Given the description of an element on the screen output the (x, y) to click on. 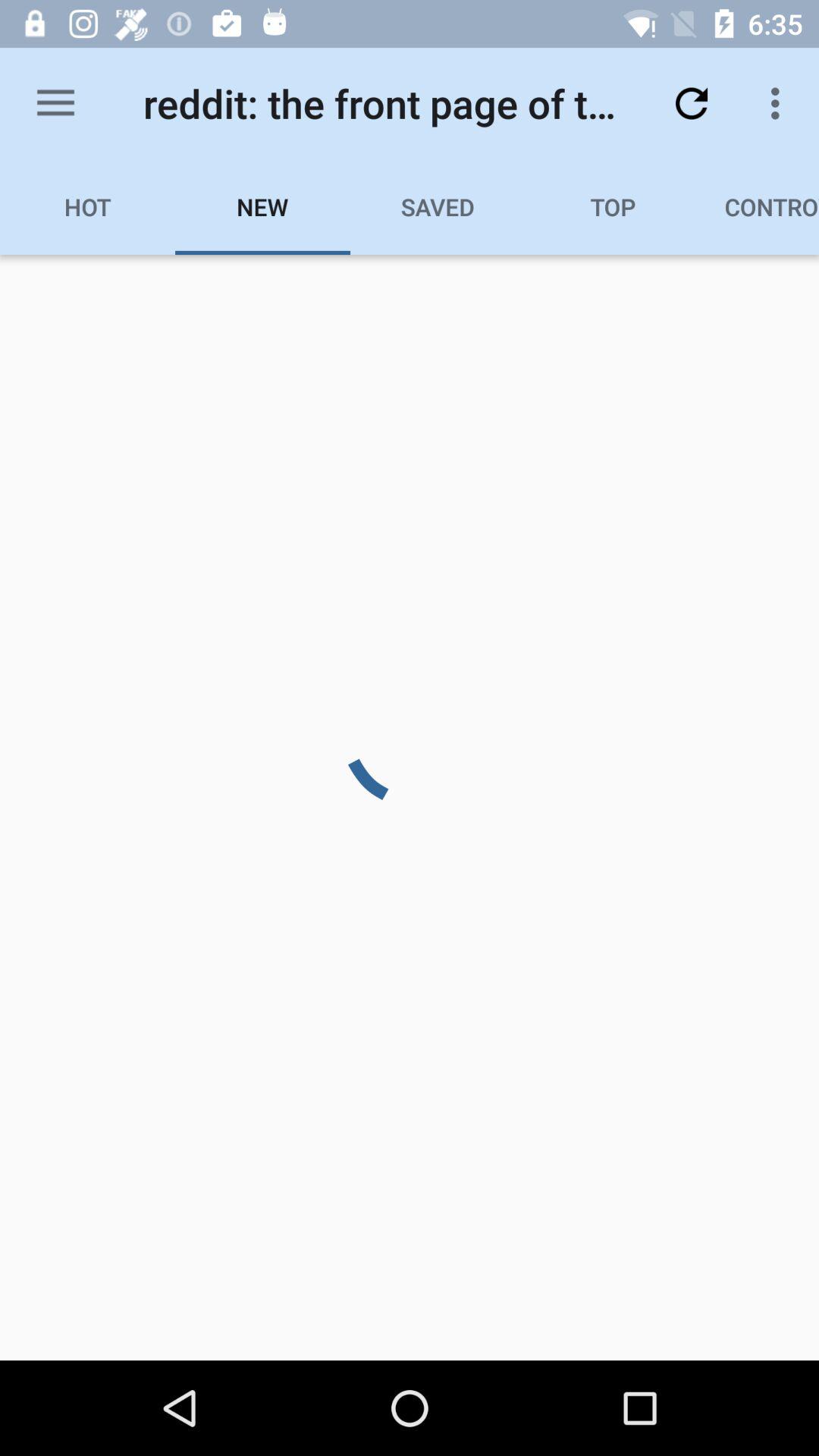
click the item to the left of the reddit the front (55, 103)
